Given the description of an element on the screen output the (x, y) to click on. 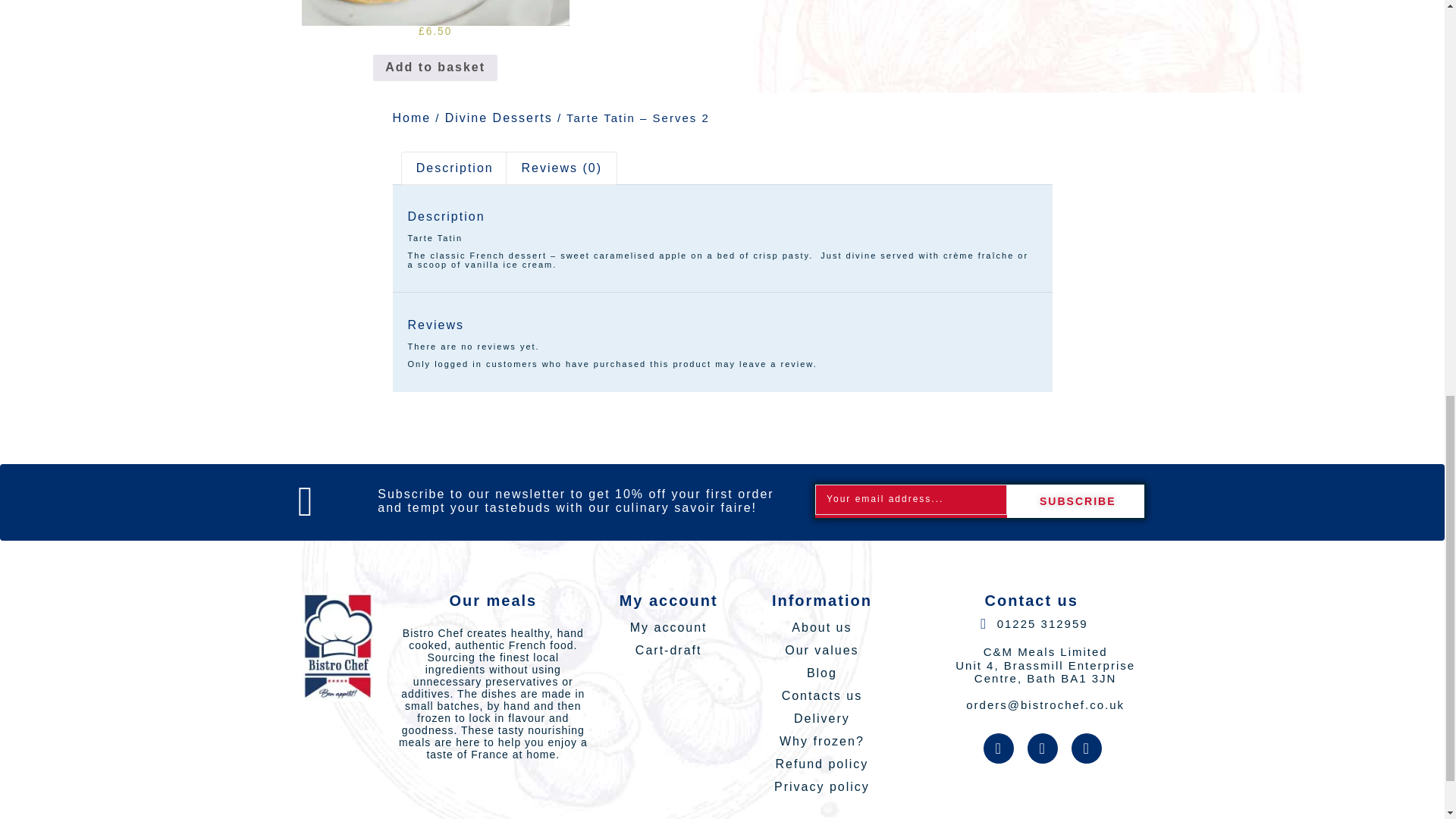
Our values (821, 650)
Cart-draft (667, 650)
SUBSCRIBE (1075, 500)
Contacts us (821, 695)
Why frozen? (821, 741)
My account (667, 627)
Blog (821, 672)
Divine Desserts (499, 117)
Delivery (821, 718)
Description (454, 168)
